Given the description of an element on the screen output the (x, y) to click on. 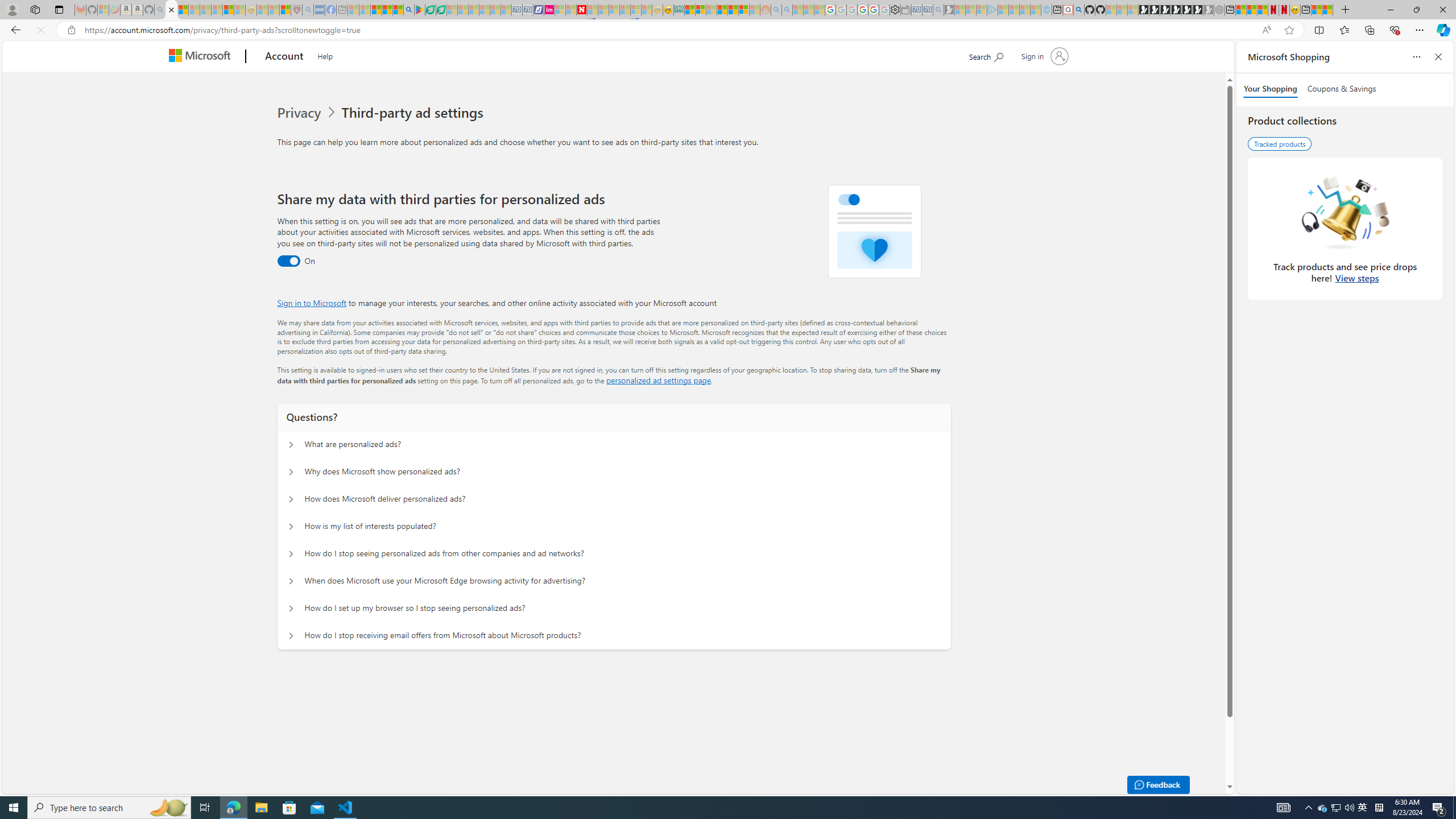
Wildlife - MSN (1316, 9)
Account (283, 56)
